Given the description of an element on the screen output the (x, y) to click on. 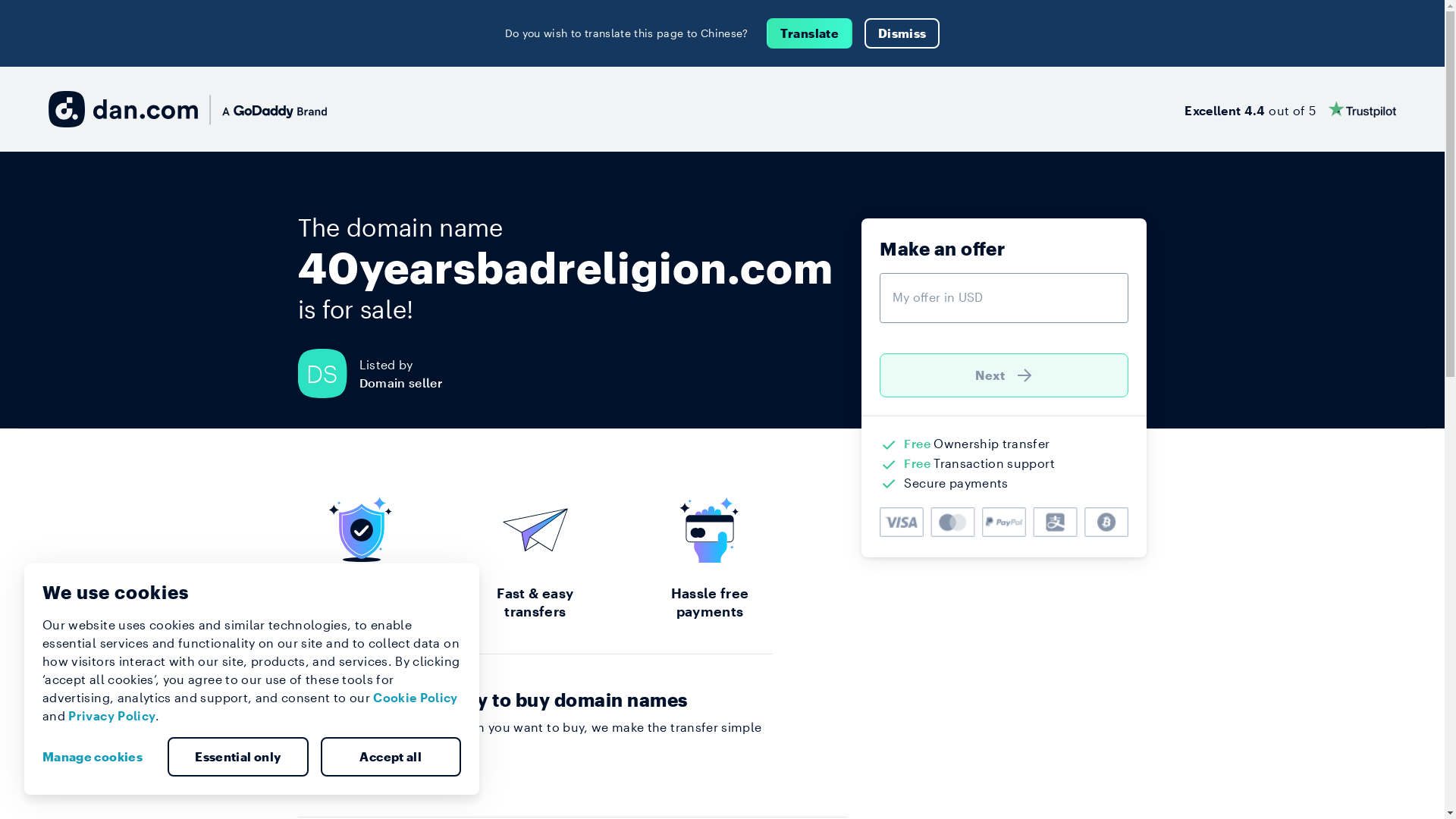
DS Element type: text (327, 373)
Cookie Policy Element type: text (415, 697)
Privacy Policy Element type: text (111, 715)
Accept all Element type: text (390, 756)
Next
) Element type: text (1003, 375)
Excellent 4.4 out of 5 Element type: text (1290, 109)
Essential only Element type: text (237, 756)
Translate Element type: text (809, 33)
Dismiss Element type: text (901, 33)
Manage cookies Element type: text (98, 756)
